Given the description of an element on the screen output the (x, y) to click on. 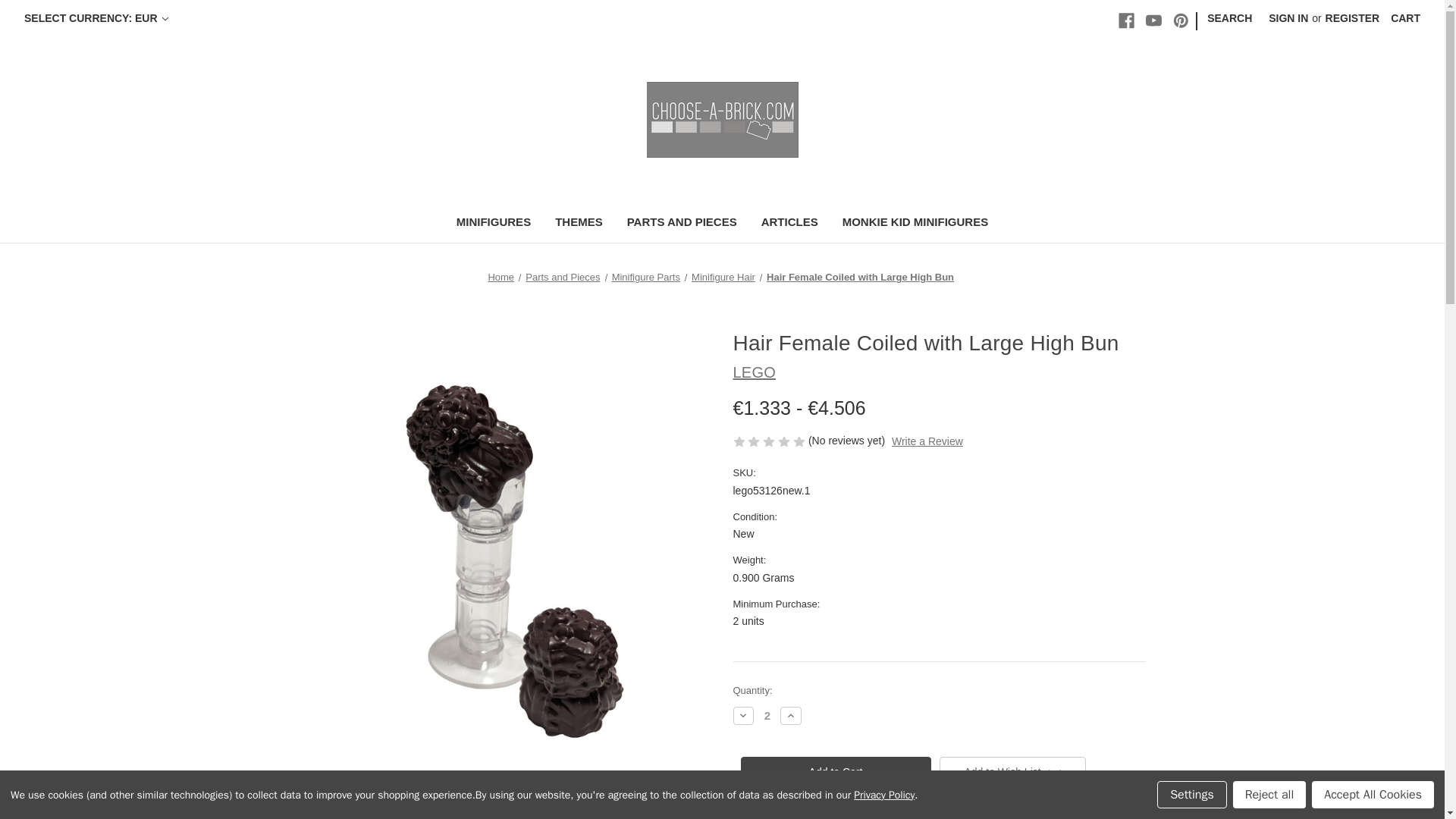
SEARCH (1229, 18)
Youtube (1153, 20)
2 (767, 715)
Home (500, 276)
MINIFIGURES (493, 223)
Add to Cart (834, 771)
ARTICLES (789, 223)
Pinterest (1181, 20)
Minifigure Parts (645, 276)
MONKIE KID MINIFIGURES (915, 223)
